Given the description of an element on the screen output the (x, y) to click on. 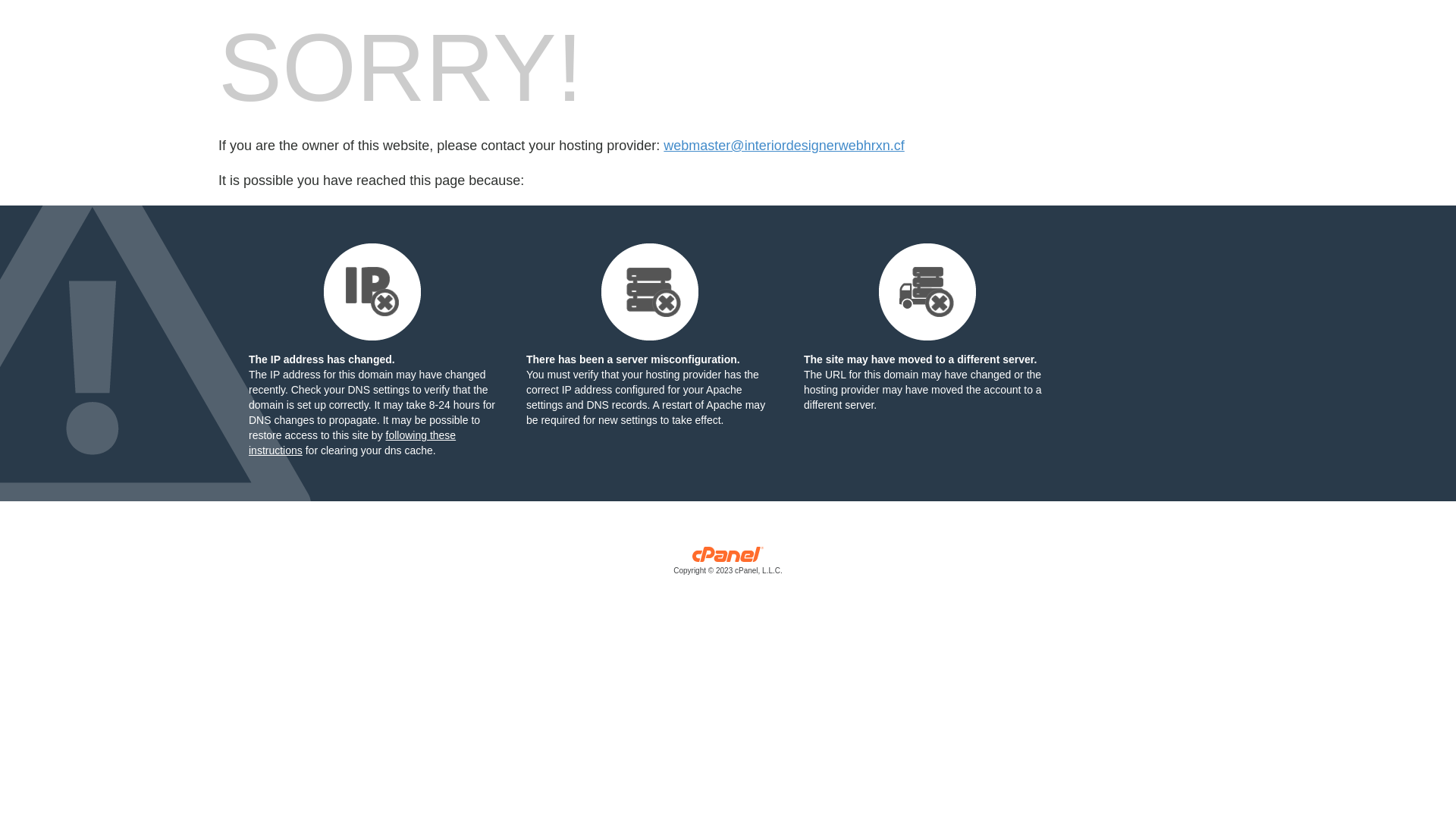
following these instructions Element type: text (351, 442)
webmaster@interiordesignerwebhrxn.cf Element type: text (783, 145)
